Given the description of an element on the screen output the (x, y) to click on. 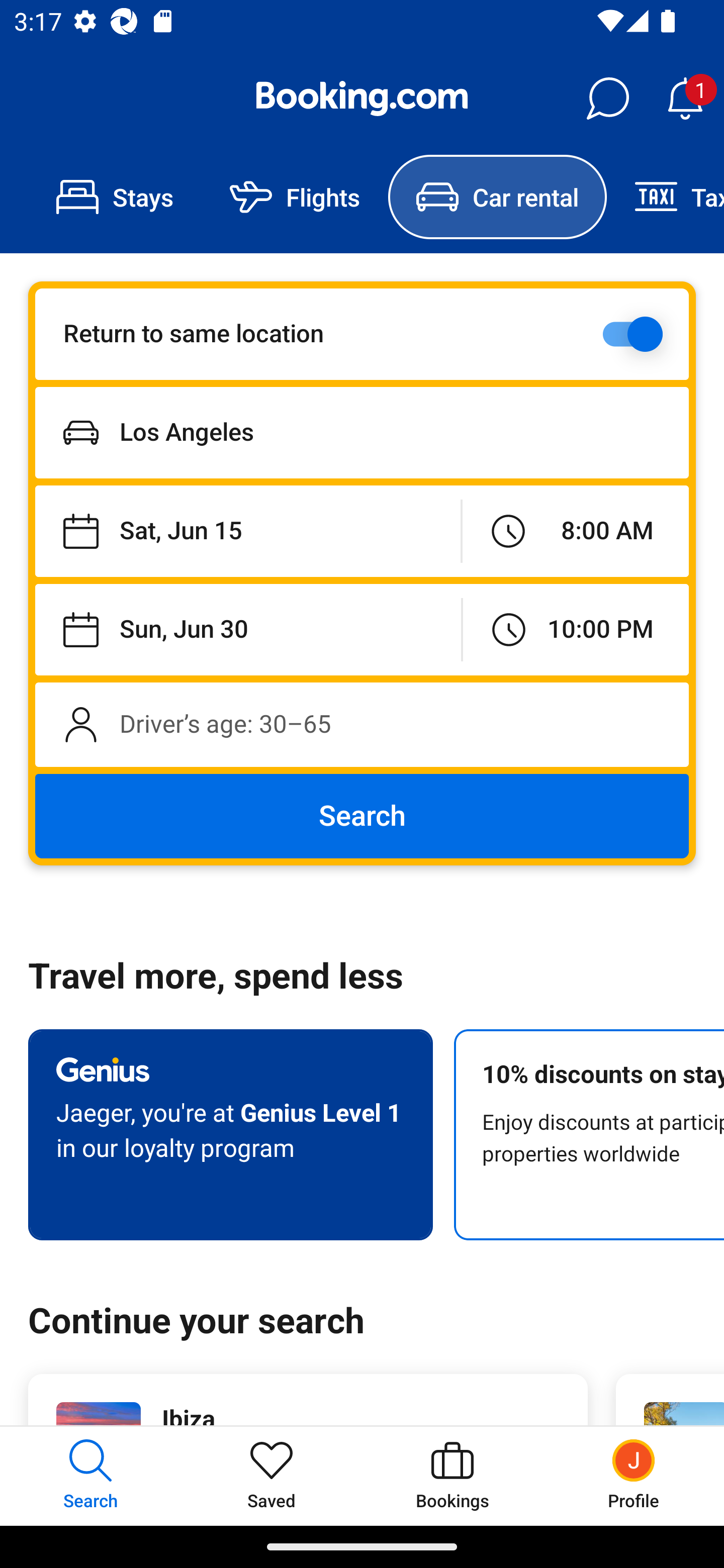
Messages (607, 98)
Notifications (685, 98)
Stays (114, 197)
Flights (294, 197)
Car rental (497, 197)
Taxi (665, 197)
Pick-up location: Text(name=Los Angeles) (361, 432)
Pick-up date: 2024-06-15 (247, 531)
Pick-up time: 08:00:00.000 (575, 531)
Drop-off date: 2024-06-30 (248, 629)
Drop-off time: 22:00:00.000 (575, 629)
Enter the driver's age (361, 724)
Search (361, 815)
Saved (271, 1475)
Bookings (452, 1475)
Profile (633, 1475)
